Given the description of an element on the screen output the (x, y) to click on. 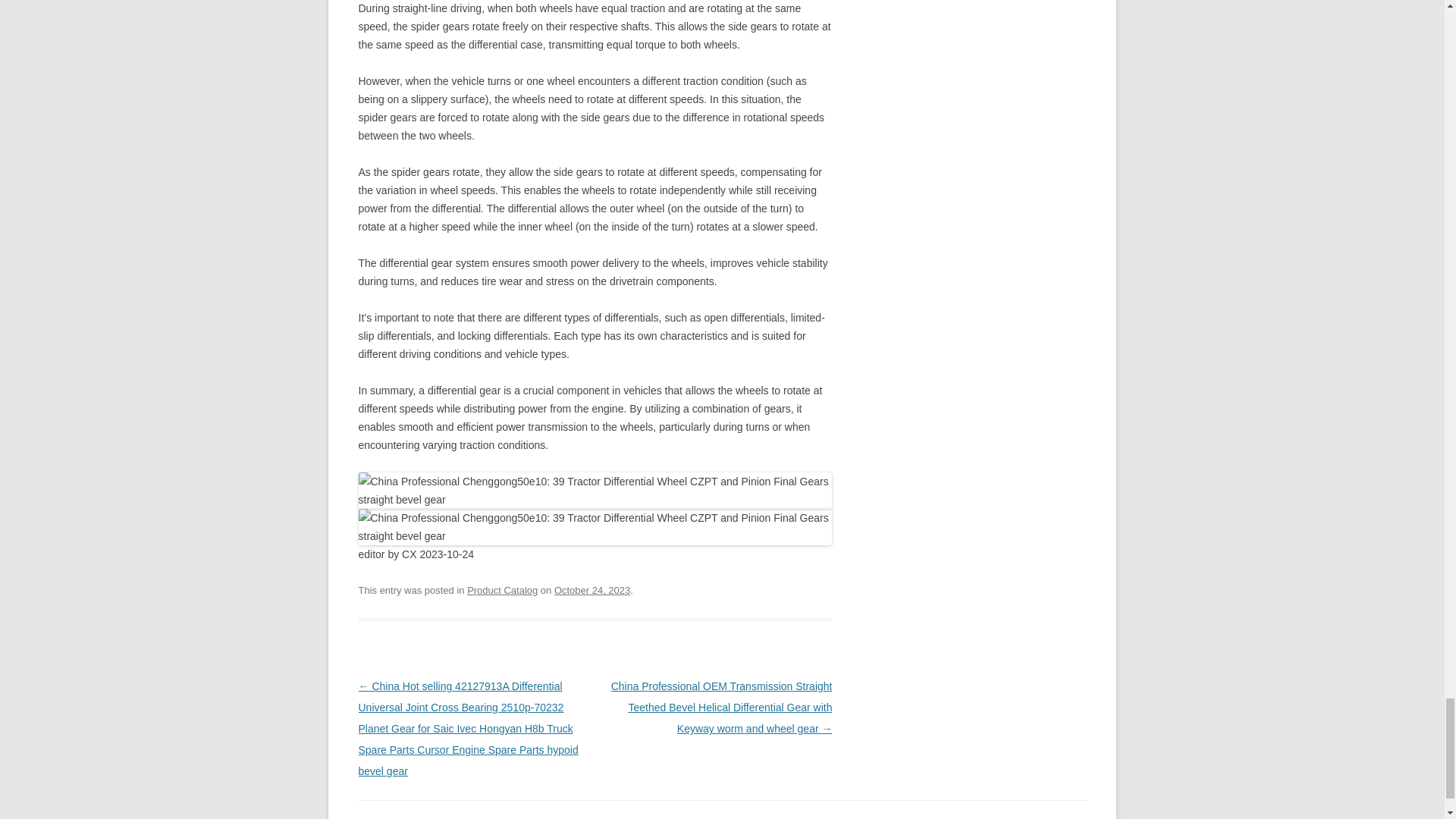
Product Catalog (502, 590)
1:36 am (592, 590)
October 24, 2023 (592, 590)
